Given the description of an element on the screen output the (x, y) to click on. 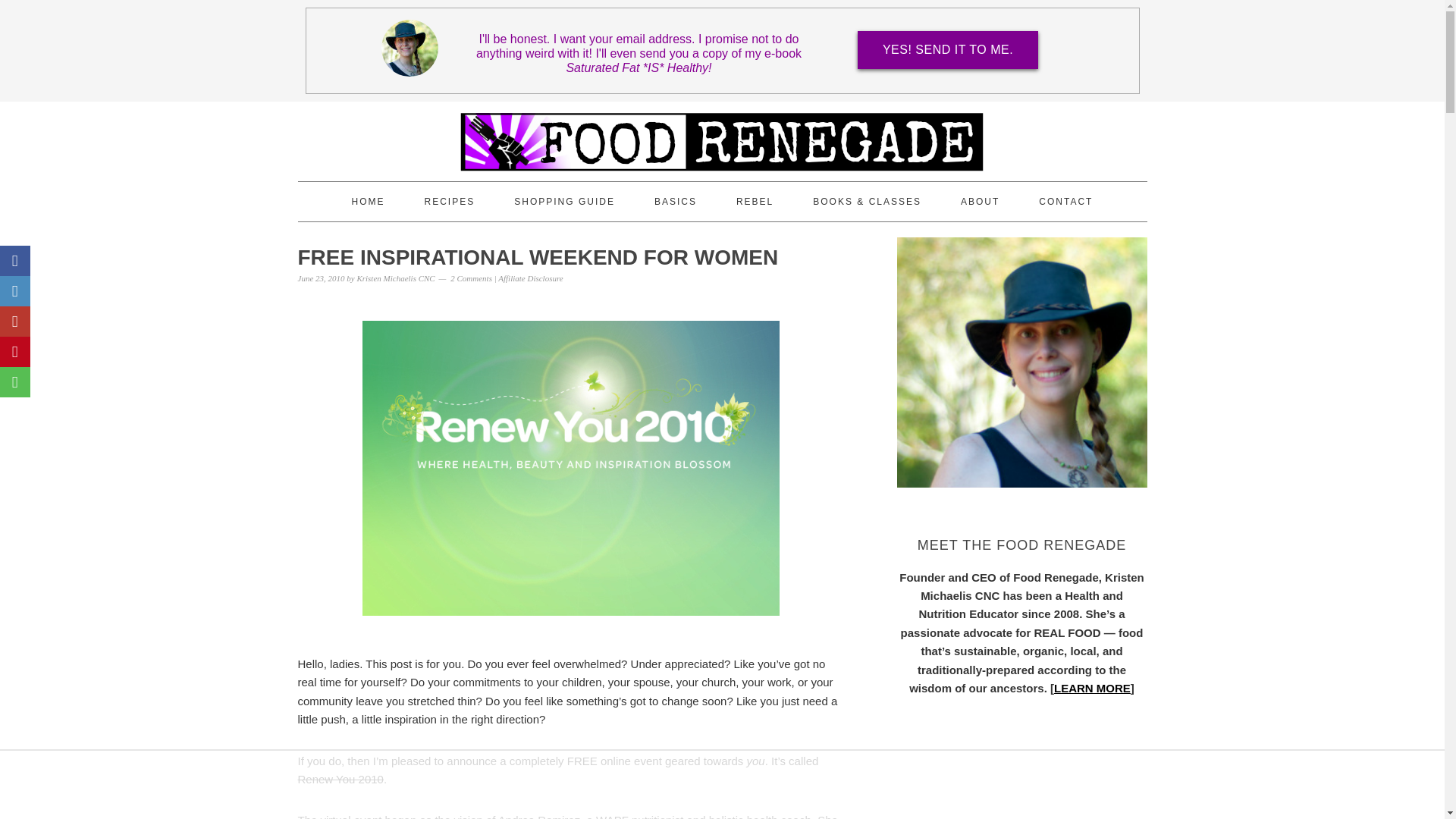
RECIPES (450, 201)
2 Comments (470, 277)
YES! SEND IT TO ME. (947, 49)
REBEL (754, 201)
SHOPPING GUIDE (564, 201)
CONTACT (1066, 201)
Like (15, 260)
BASICS (675, 201)
Affiliate Disclosure (529, 277)
Kristen Michaelis CNC (394, 277)
FOOD RENEGADE (721, 134)
Renew You 2010 Event (570, 468)
ABOUT (979, 201)
HOME (368, 201)
